Given the description of an element on the screen output the (x, y) to click on. 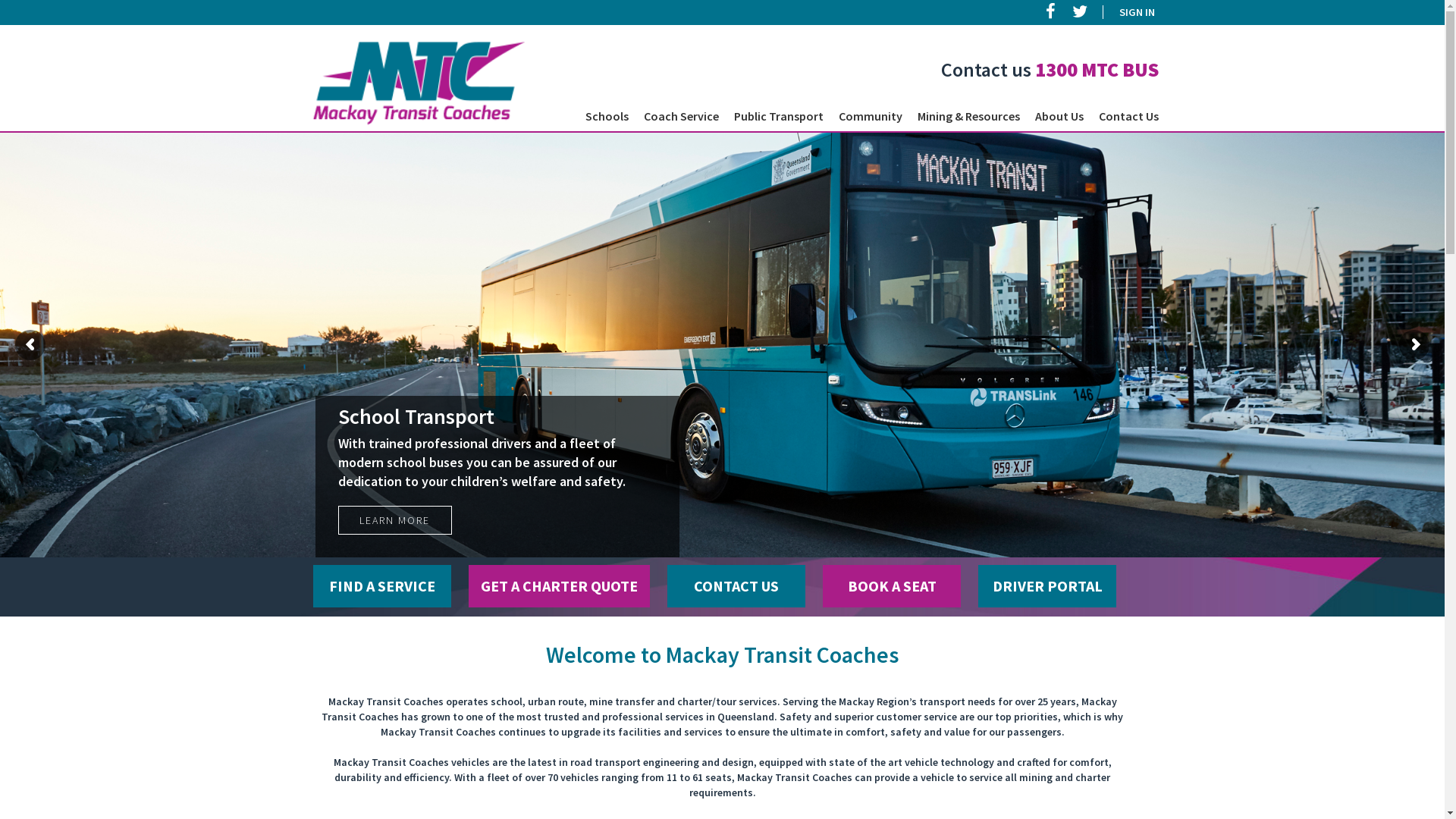
Community Element type: text (870, 115)
Contact Us Element type: text (1127, 115)
Coach Service Element type: text (680, 115)
GET A CHARTER QUOTE Element type: text (558, 585)
FIND A SERVICE Element type: text (382, 585)
Mining & Resources Element type: text (968, 115)
CONTACT US Element type: text (735, 585)
LEARN MORE Element type: text (394, 519)
DRIVER PORTAL Element type: text (1046, 585)
  SIGN IN Element type: text (1128, 11)
BOOK A SEAT Element type: text (891, 585)
About Us Element type: text (1058, 115)
Schools Element type: text (606, 115)
Public Transport Element type: text (778, 115)
